Given the description of an element on the screen output the (x, y) to click on. 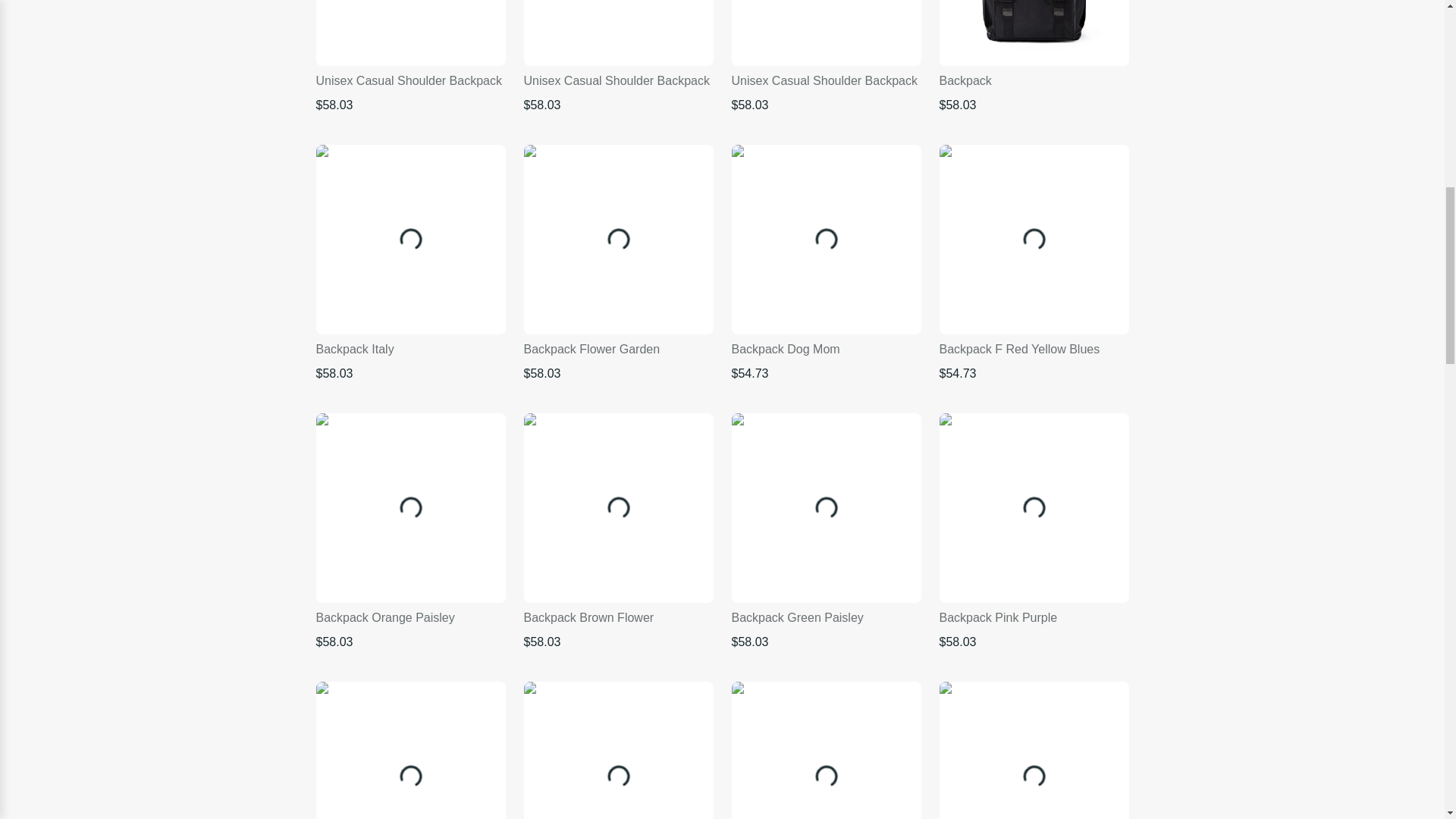
Backpack Dog Mom  (825, 239)
Unisex Casual Shoulder Backpack (825, 33)
Unisex Casual Shoulder Backpack (617, 33)
Unisex Casual Shoulder Backpack (410, 33)
Backpack (1033, 33)
Backpack Flower Garden (617, 239)
Backpack Italy (410, 239)
Backpack Pink Purple (1033, 507)
Backpack F Red Yellow Blues (1033, 239)
Backpack Orange Paisley (410, 507)
Backpack Green Paisley (825, 507)
Backpack Brown Flower (617, 507)
